Given the description of an element on the screen output the (x, y) to click on. 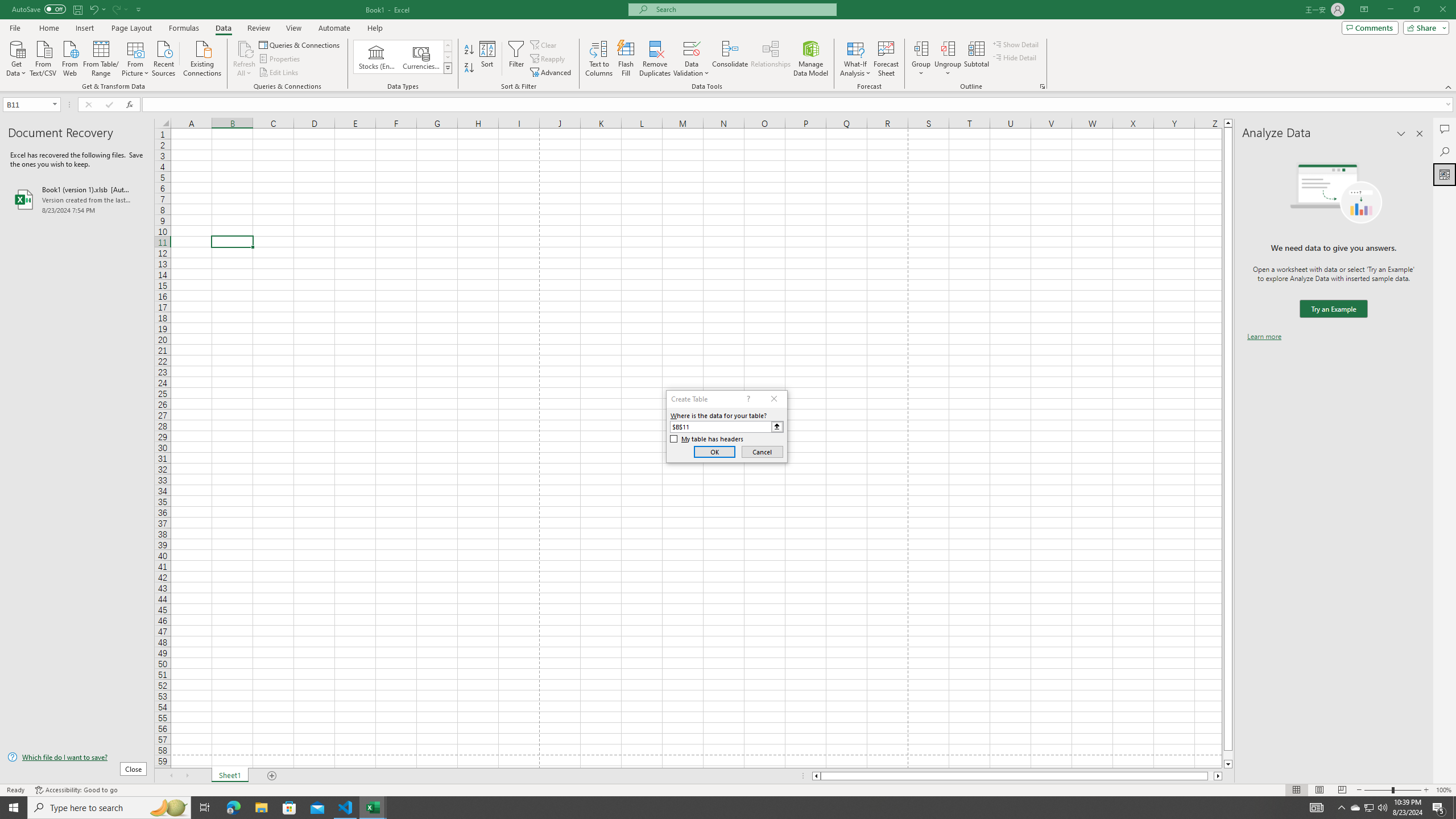
Home (48, 28)
Edit Links (279, 72)
Share (1423, 27)
Ribbon Display Options (1364, 9)
Subtotal (976, 58)
From Picture (135, 57)
Group... (921, 58)
Quick Access Toolbar (77, 9)
Automate (334, 28)
Accessibility Checker Accessibility: Good to go (76, 790)
Book1 (version 1).xlsb  [AutoRecovered] (77, 199)
Manage Data Model (810, 58)
Scroll Right (187, 775)
